Given the description of an element on the screen output the (x, y) to click on. 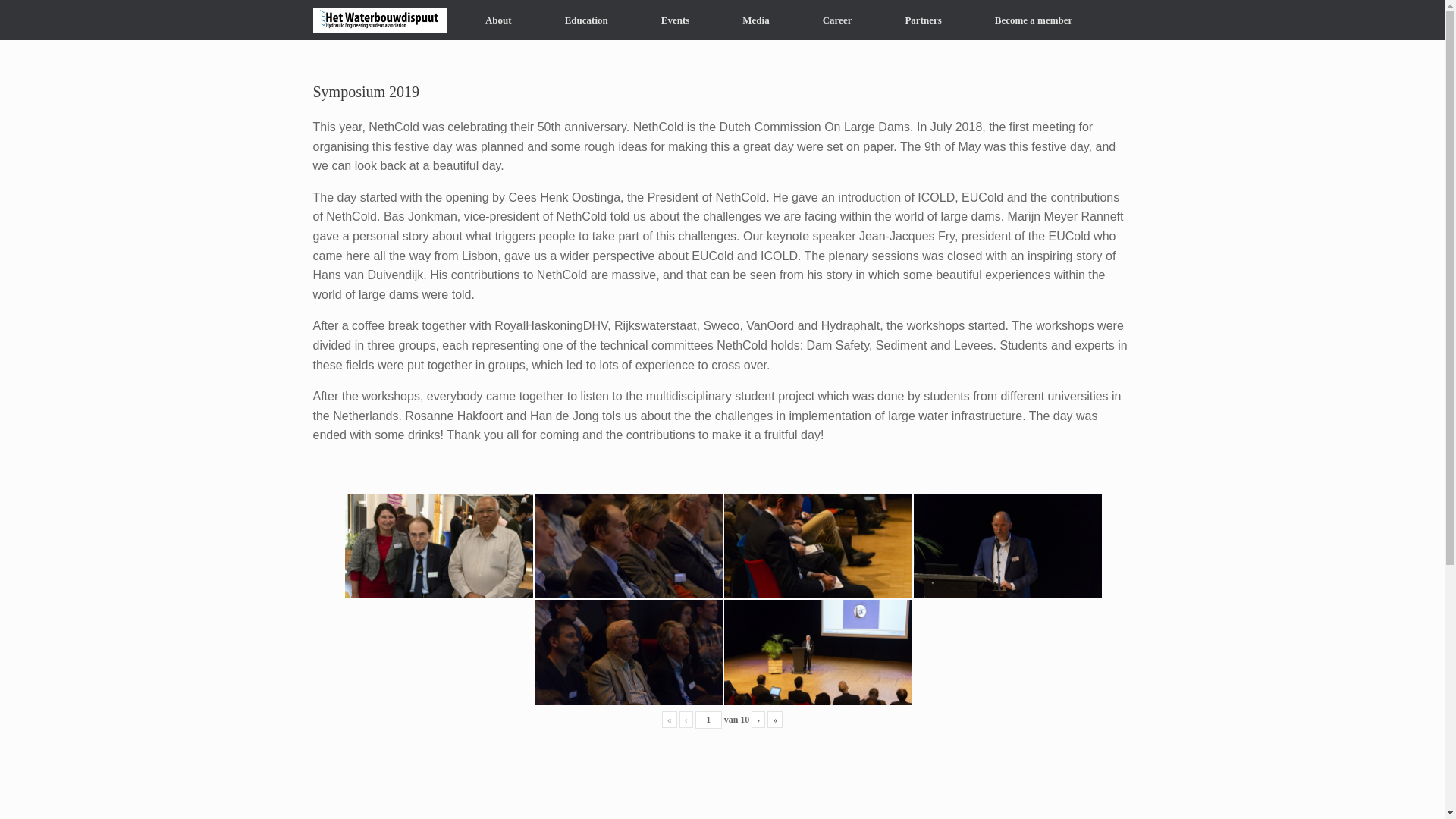
Partners (922, 20)
Become a member (1033, 20)
Symposium 2019 (817, 546)
Ga naar de eerste pagina (669, 719)
Education (586, 20)
About (498, 20)
Symposium 2019 (628, 652)
Symposium 2019 (437, 546)
Symposium 2019 (628, 546)
Ga naar de laatste pagina (775, 719)
Career (837, 20)
Waterbouwdispuut (379, 20)
1 (708, 719)
Symposium 2019 (1006, 546)
Media (755, 20)
